Given the description of an element on the screen output the (x, y) to click on. 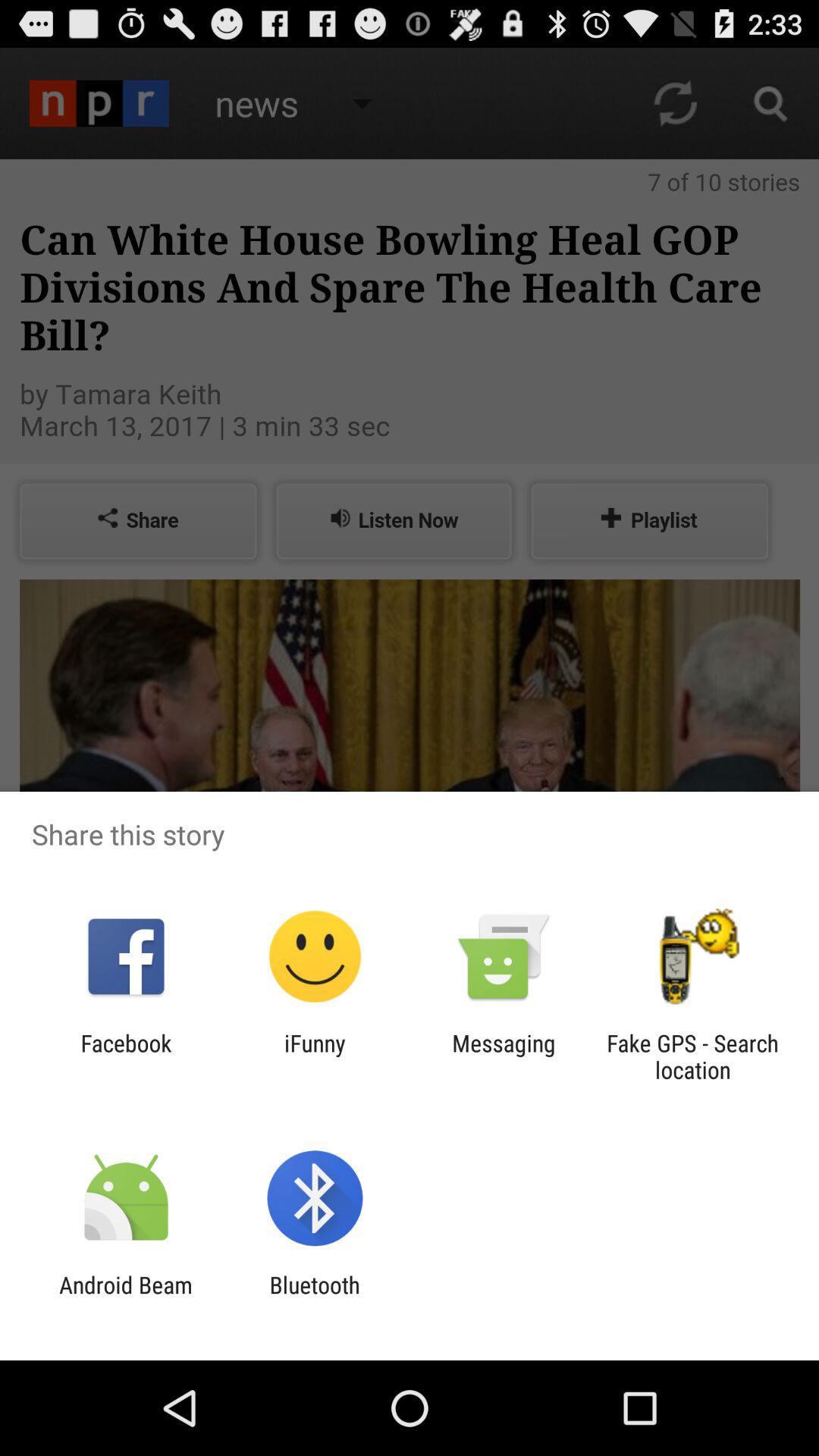
launch the icon to the left of the bluetooth (125, 1298)
